Given the description of an element on the screen output the (x, y) to click on. 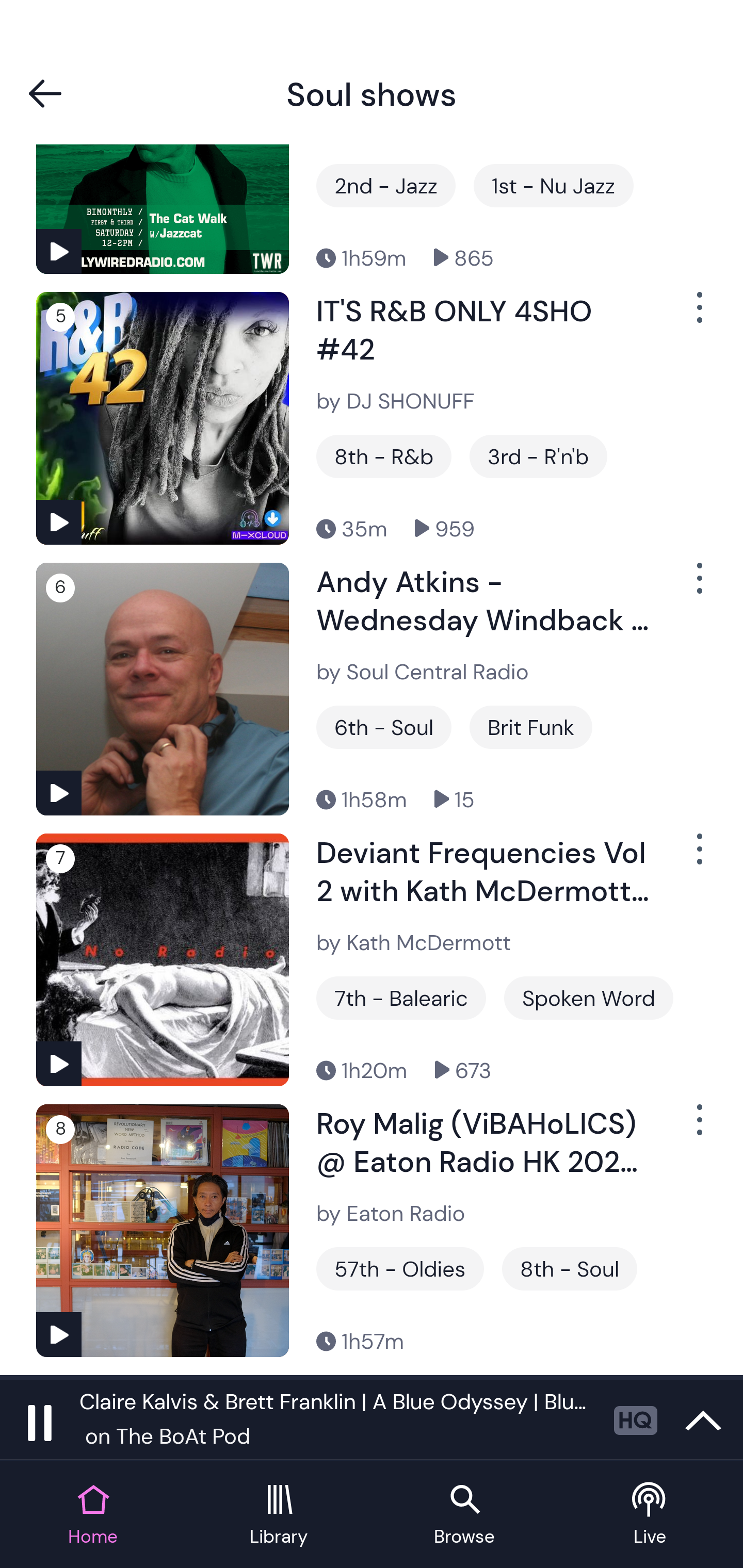
2nd - Jazz (385, 185)
1st - Nu Jazz (553, 185)
Show Options Menu Button (697, 314)
8th - R&b (383, 456)
3rd - R'n'b (538, 456)
Show Options Menu Button (697, 585)
6th - Soul (383, 727)
Brit Funk (530, 727)
Show Options Menu Button (697, 857)
7th - Balearic (400, 997)
Spoken Word (588, 997)
Show Options Menu Button (697, 1126)
57th - Oldies (399, 1268)
8th - Soul (569, 1268)
Home tab Home (92, 1515)
Library tab Library (278, 1515)
Browse tab Browse (464, 1515)
Live tab Live (650, 1515)
